Given the description of an element on the screen output the (x, y) to click on. 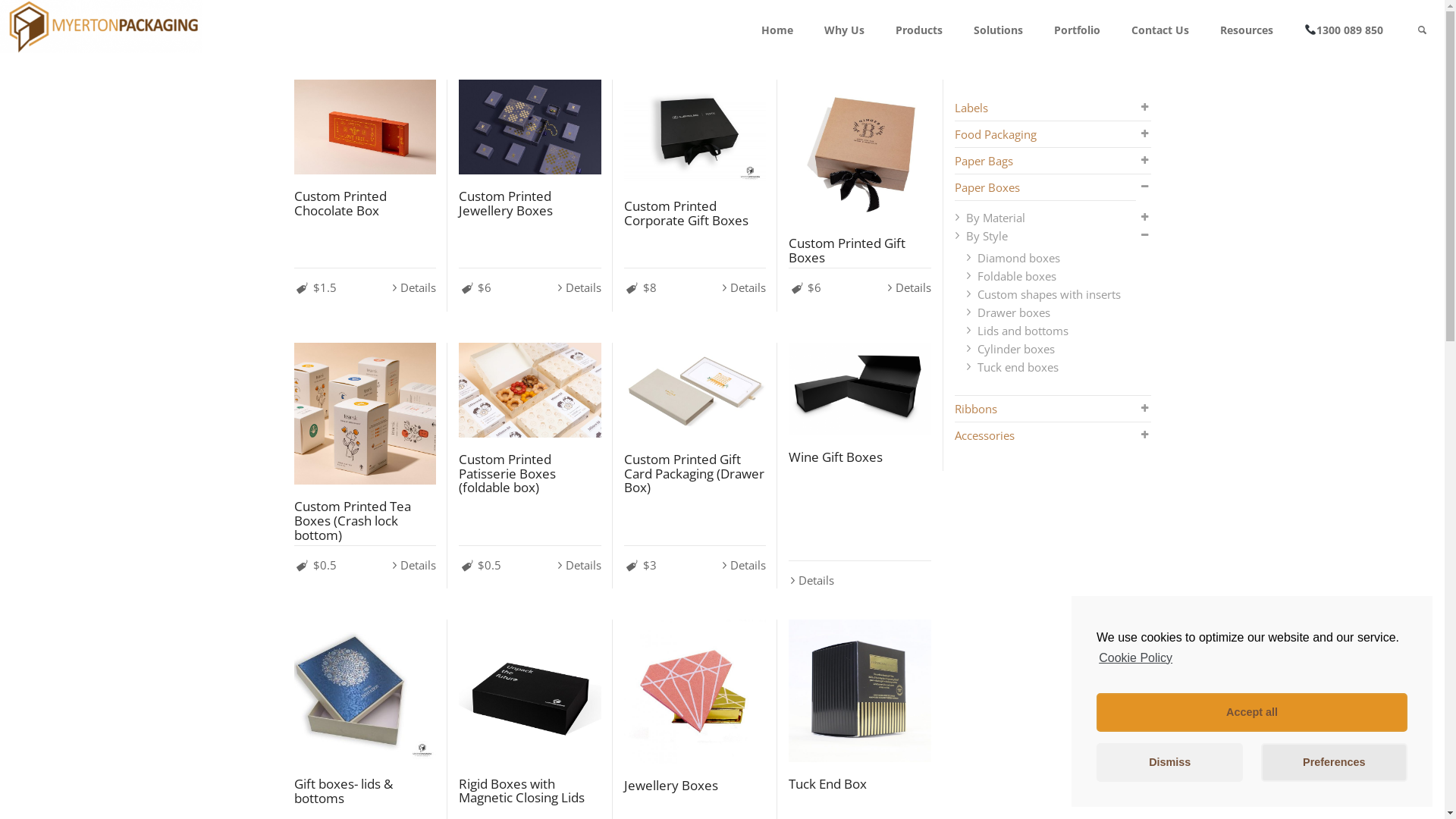
Details Element type: text (742, 286)
Custom Printed Gift Card Packaging (Drawer Box) Element type: text (693, 472)
Custom Printed Jewellery Boxes Element type: hover (529, 126)
Dismiss Element type: text (1169, 762)
Details Element type: text (811, 579)
Details Element type: text (413, 286)
Solutions Element type: text (998, 30)
Cookie Policy Element type: text (1134, 657)
Gift boxes- lids & bottoms Element type: text (343, 790)
Custom Printed Gift Boxes Element type: text (846, 250)
1300 089 850 Element type: text (1344, 30)
Ribbons Element type: text (974, 408)
Paper Bags Element type: text (982, 160)
Portfolio Element type: text (1077, 30)
Tuck End Box Element type: hover (859, 690)
Jewellery Boxes Element type: hover (694, 690)
Food Packaging Element type: text (994, 133)
Details Element type: text (742, 564)
Details Element type: text (577, 286)
Custom Printed Corporate Gift Boxes Element type: hover (694, 131)
Custom Printed Chocolate Box Element type: hover (365, 126)
Custom Printed Jewellery Boxes Element type: text (505, 203)
Wine Gift Boxes Element type: hover (859, 388)
Wine Gift Boxes Element type: text (835, 456)
Custom Printed Gift Card Packaging (Drawer Box) Element type: hover (694, 389)
Custom Printed Tea Boxes (Crash lock bottom) Element type: hover (365, 413)
Drawer boxes Element type: text (1012, 312)
Preferences Element type: text (1334, 762)
Gift boxes- lids & bottoms Element type: hover (365, 690)
Tuck End Box Element type: text (827, 783)
Tuck end boxes Element type: text (1016, 366)
Rigid Boxes with Magnetic Closing Lids Element type: hover (529, 690)
Custom Printed Patisserie Boxes (foldable box) Element type: text (506, 472)
Details Element type: text (577, 564)
Custom Printed Patisserie Boxes (foldable box) Element type: hover (529, 389)
Paper Boxes Element type: text (986, 186)
By Material Element type: text (995, 217)
Custom Printed Corporate Gift Boxes Element type: text (685, 213)
Myerton Packaging Element type: hover (101, 24)
Custom Printed Gift Boxes Element type: hover (859, 150)
By Style Element type: text (986, 235)
Diamond boxes Element type: text (1017, 257)
Details Element type: text (908, 286)
Search Element type: hover (1421, 30)
Rigid Boxes with Magnetic Closing Lids Element type: text (521, 790)
Lids and bottoms Element type: text (1021, 330)
Resources Element type: text (1246, 30)
Accessories Element type: text (983, 434)
Accept all Element type: text (1251, 712)
Details Element type: text (413, 564)
Custom Printed Chocolate Box Element type: text (340, 203)
Why Us Element type: text (844, 30)
Home Element type: text (777, 30)
Jewellery Boxes Element type: text (670, 784)
Cylinder boxes Element type: text (1015, 348)
Foldable boxes Element type: text (1015, 275)
Products Element type: text (919, 30)
Contact Us Element type: text (1160, 30)
Labels Element type: text (970, 107)
Custom shapes with inserts Element type: text (1048, 293)
Custom Printed Tea Boxes (Crash lock bottom) Element type: text (352, 519)
